Given the description of an element on the screen output the (x, y) to click on. 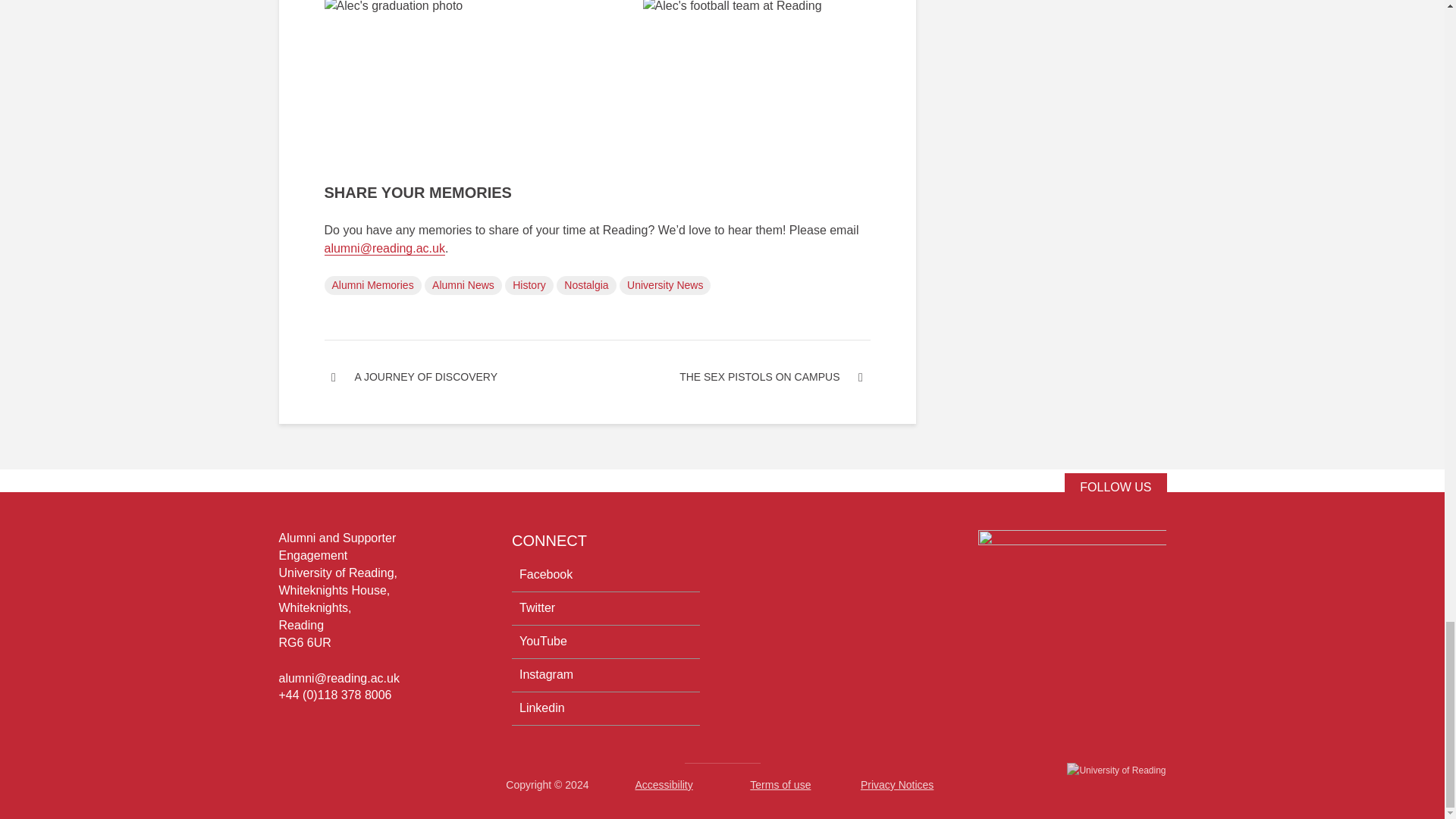
Alumni Memories (373, 285)
Nostalgia (585, 285)
Twitter (606, 608)
FOLLOW US (1115, 487)
THE SEX PISTOLS ON CAMPUS (733, 375)
Follow Connected on Twitter (1115, 487)
Facebook (606, 578)
A JOURNEY OF DISCOVERY (460, 375)
